Given the description of an element on the screen output the (x, y) to click on. 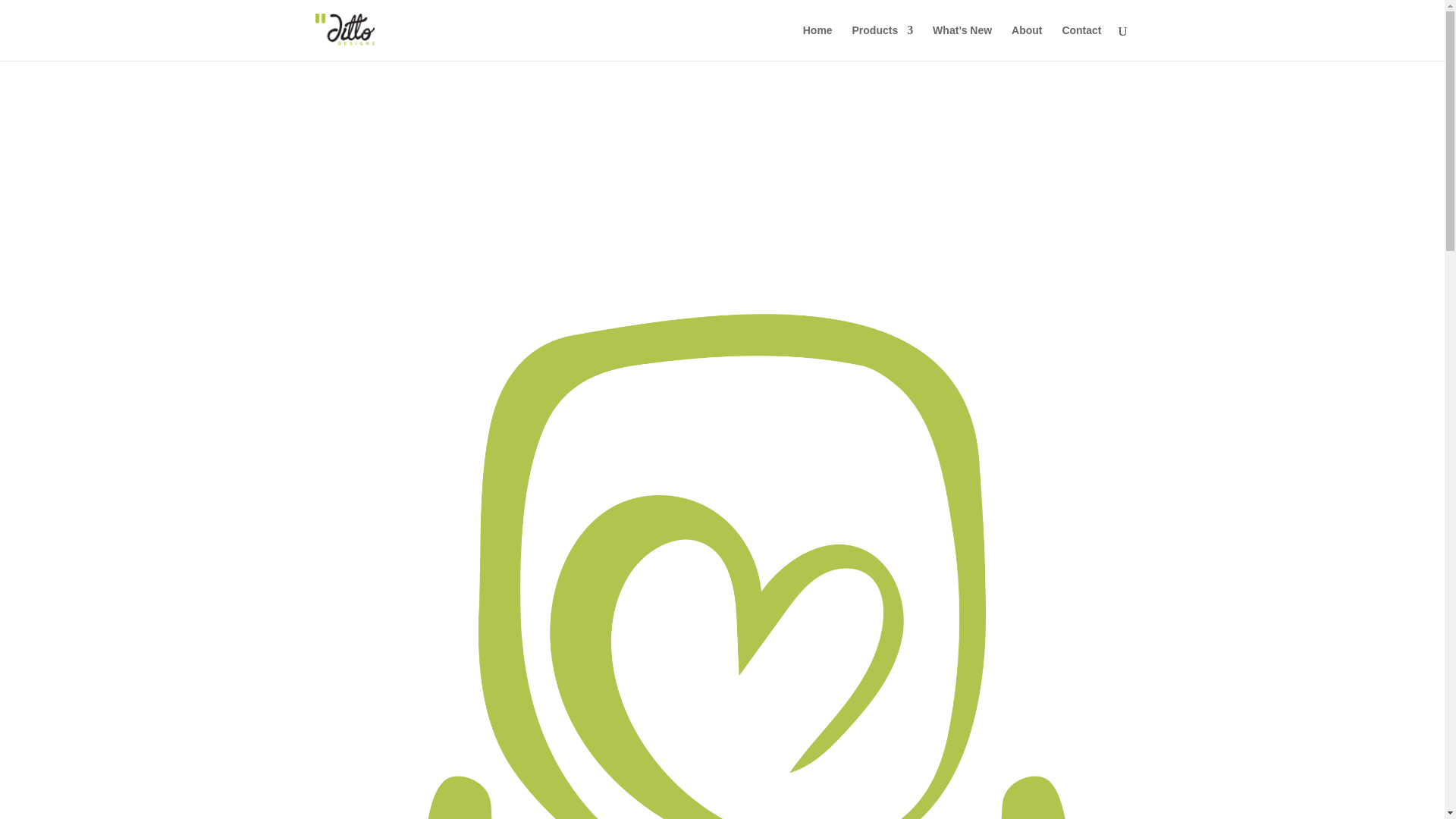
Products (882, 42)
Contact (1080, 42)
